Given the description of an element on the screen output the (x, y) to click on. 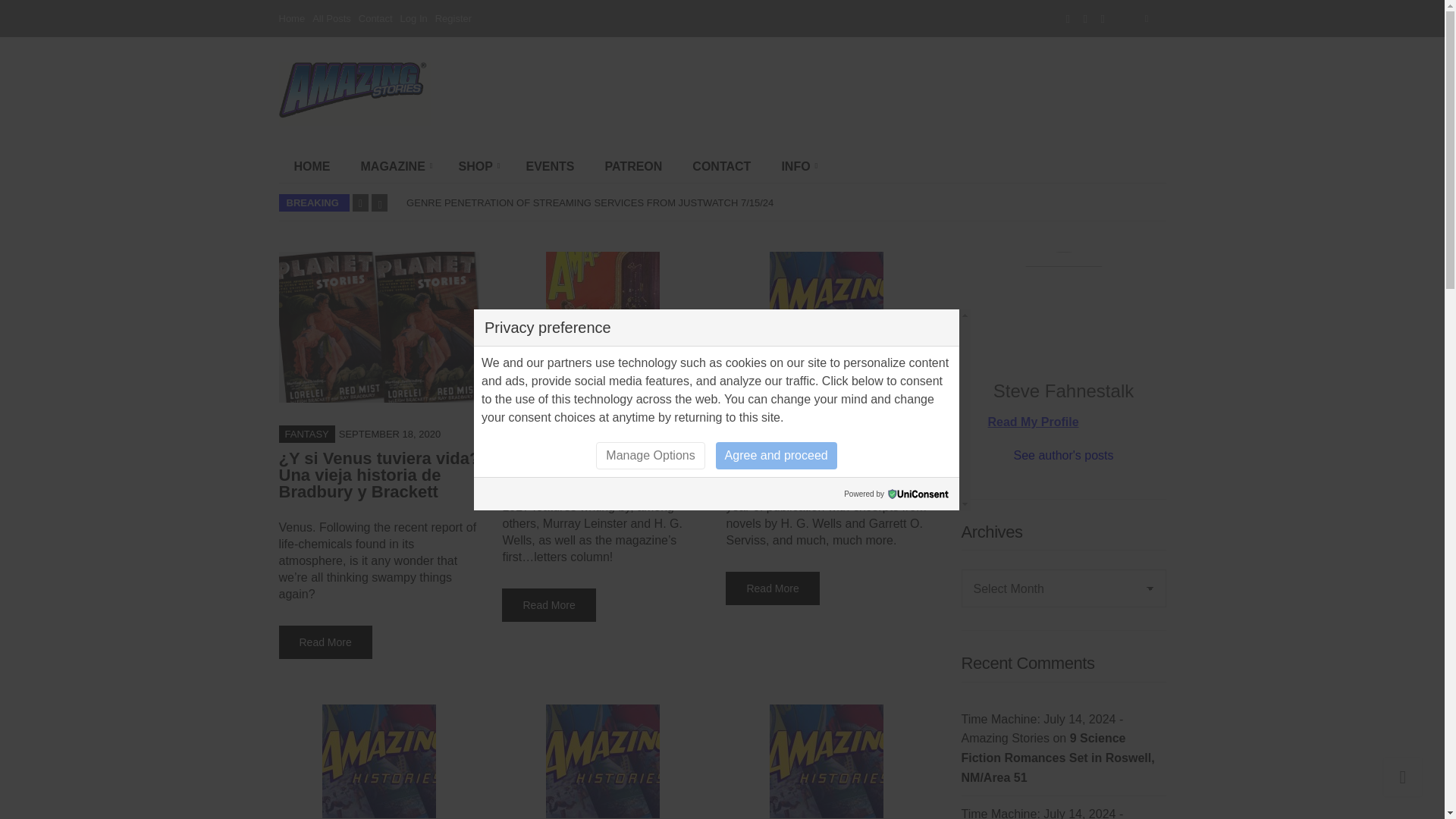
GDPR CMP - Cookie Consent Manager (918, 493)
Twitter (1085, 18)
Facebook (1068, 18)
Advertisement (874, 93)
HOME (312, 166)
EVENTS (550, 166)
Register (453, 18)
GDPR CMP - Cookie Consent Manager (918, 493)
All Posts (331, 18)
SHOP (476, 166)
MAGAZINE (395, 166)
CONTACT (721, 166)
RSS (1102, 18)
Contact (375, 18)
Log In (414, 18)
